Given the description of an element on the screen output the (x, y) to click on. 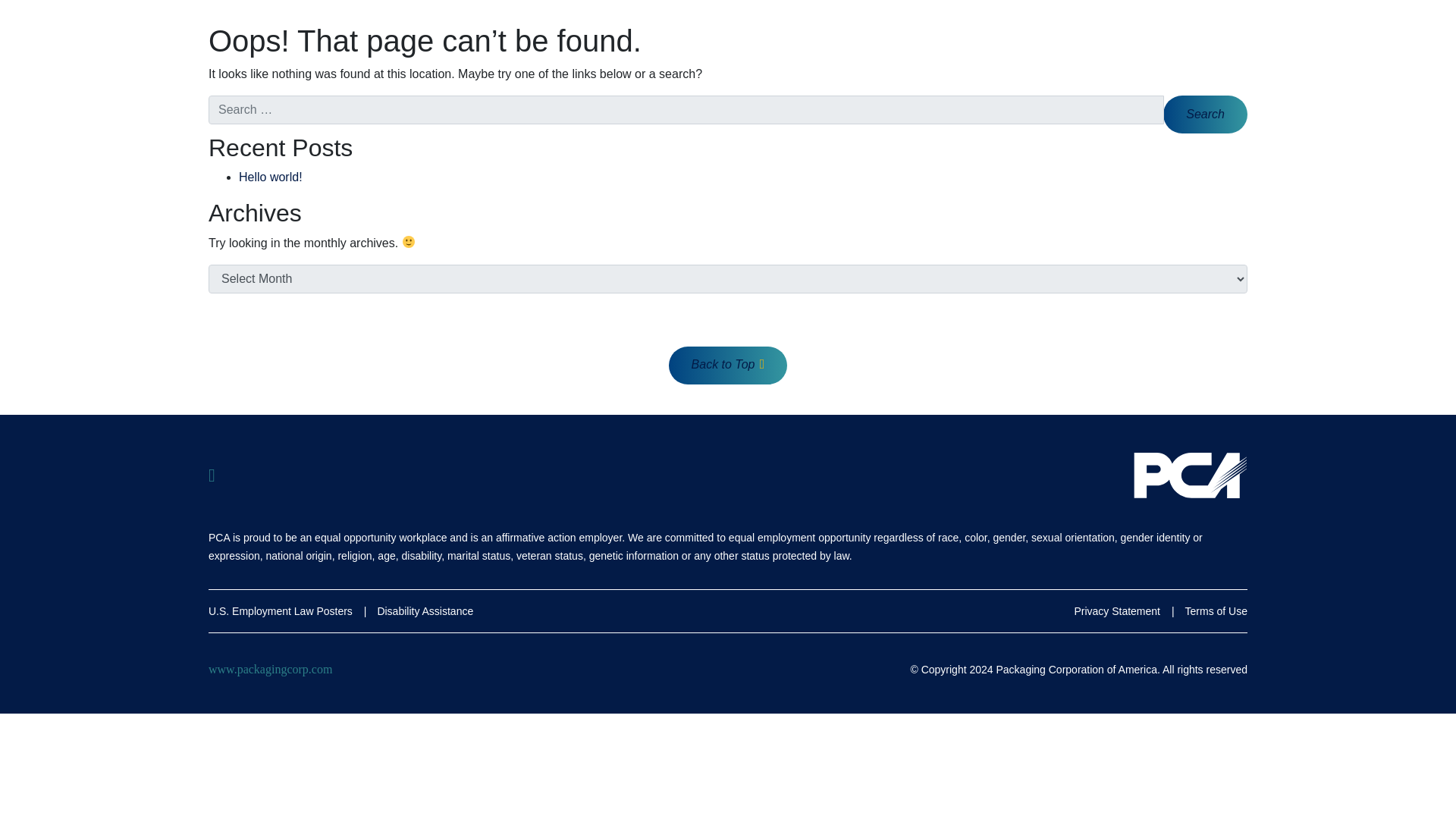
Back to Top (727, 365)
www.packagingcorp.com (269, 668)
Terms of Use (1216, 611)
Privacy Statement (1117, 611)
U.S. Employment Law Posters (280, 611)
Hello world! (270, 176)
Search (1205, 114)
Search (1205, 114)
Disability Assistance (425, 611)
